Given the description of an element on the screen output the (x, y) to click on. 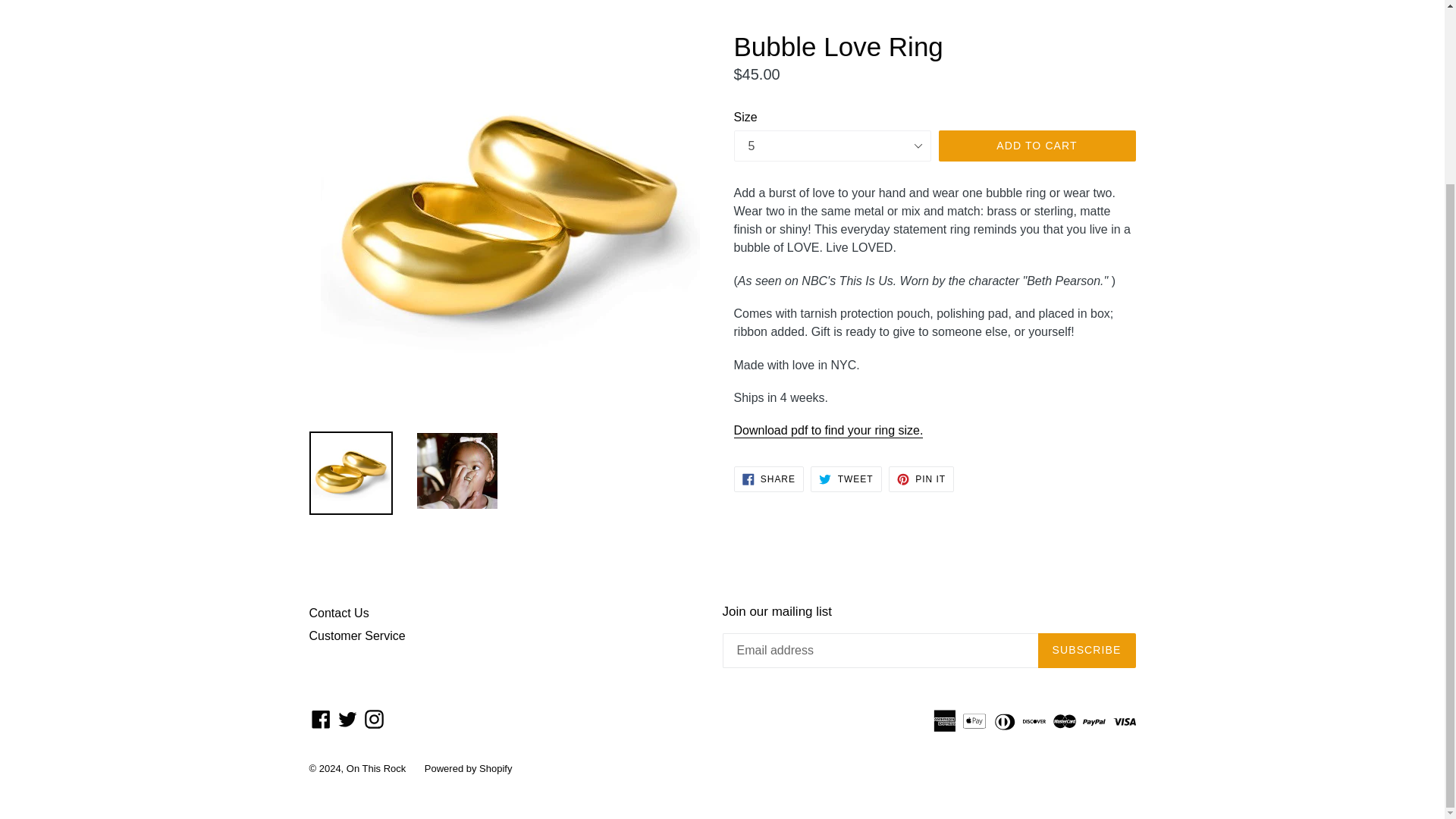
Tweet on Twitter (845, 479)
ADD TO CART (1037, 146)
Share on Facebook (768, 479)
Pin on Pinterest (845, 479)
On This Rock on Twitter (920, 479)
Ring Sizer pdf (347, 719)
Download pdf to find your ring size. (828, 431)
On This Rock on Instagram (828, 431)
On This Rock on Facebook (373, 719)
